Given the description of an element on the screen output the (x, y) to click on. 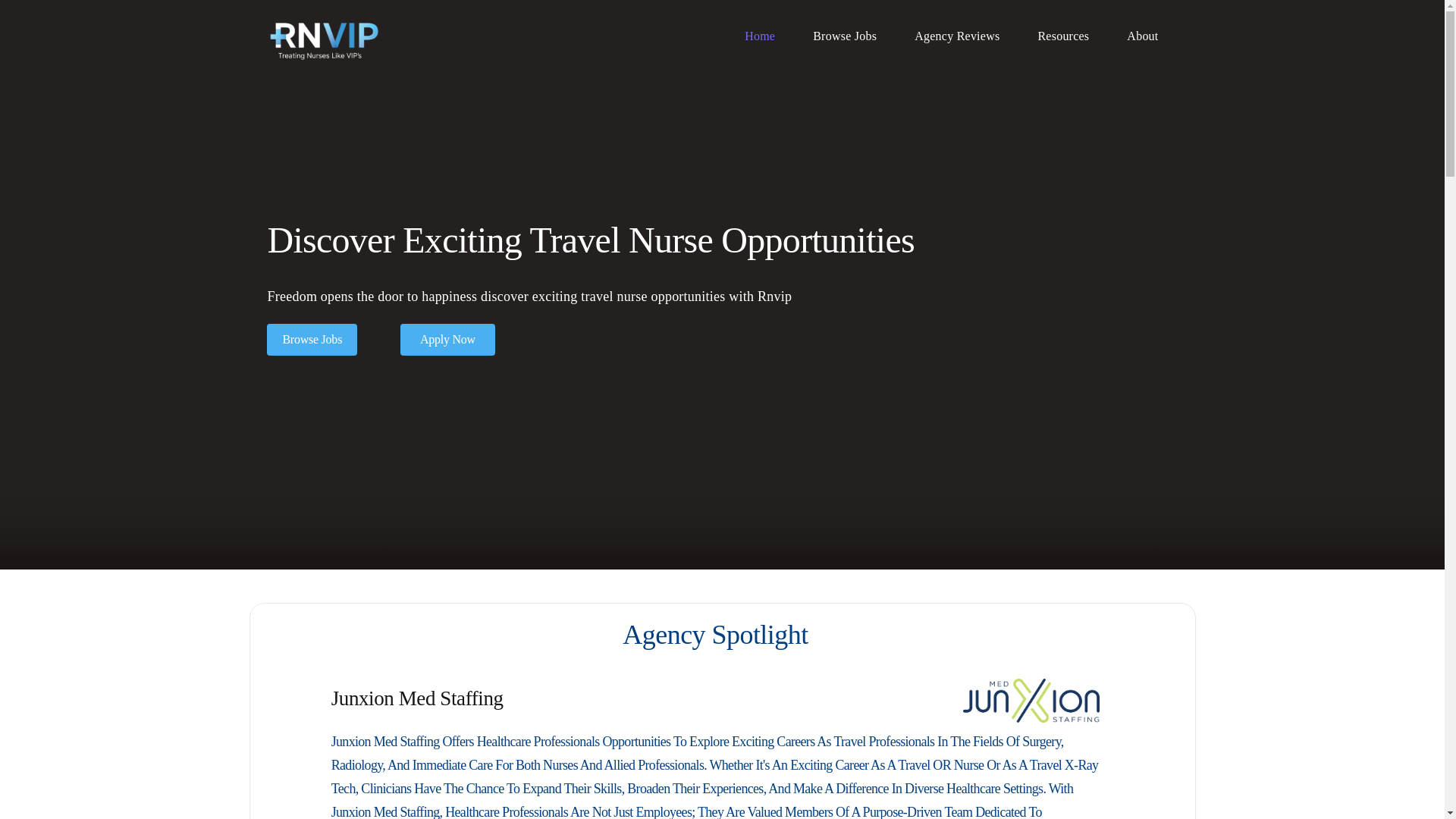
Resources (1062, 35)
Apply Now (447, 339)
Agency Reviews (956, 35)
Browse Jobs (311, 339)
Junxion Med Staffing (1030, 700)
Browse Jobs (844, 35)
About (1142, 35)
Home (759, 35)
